Given the description of an element on the screen output the (x, y) to click on. 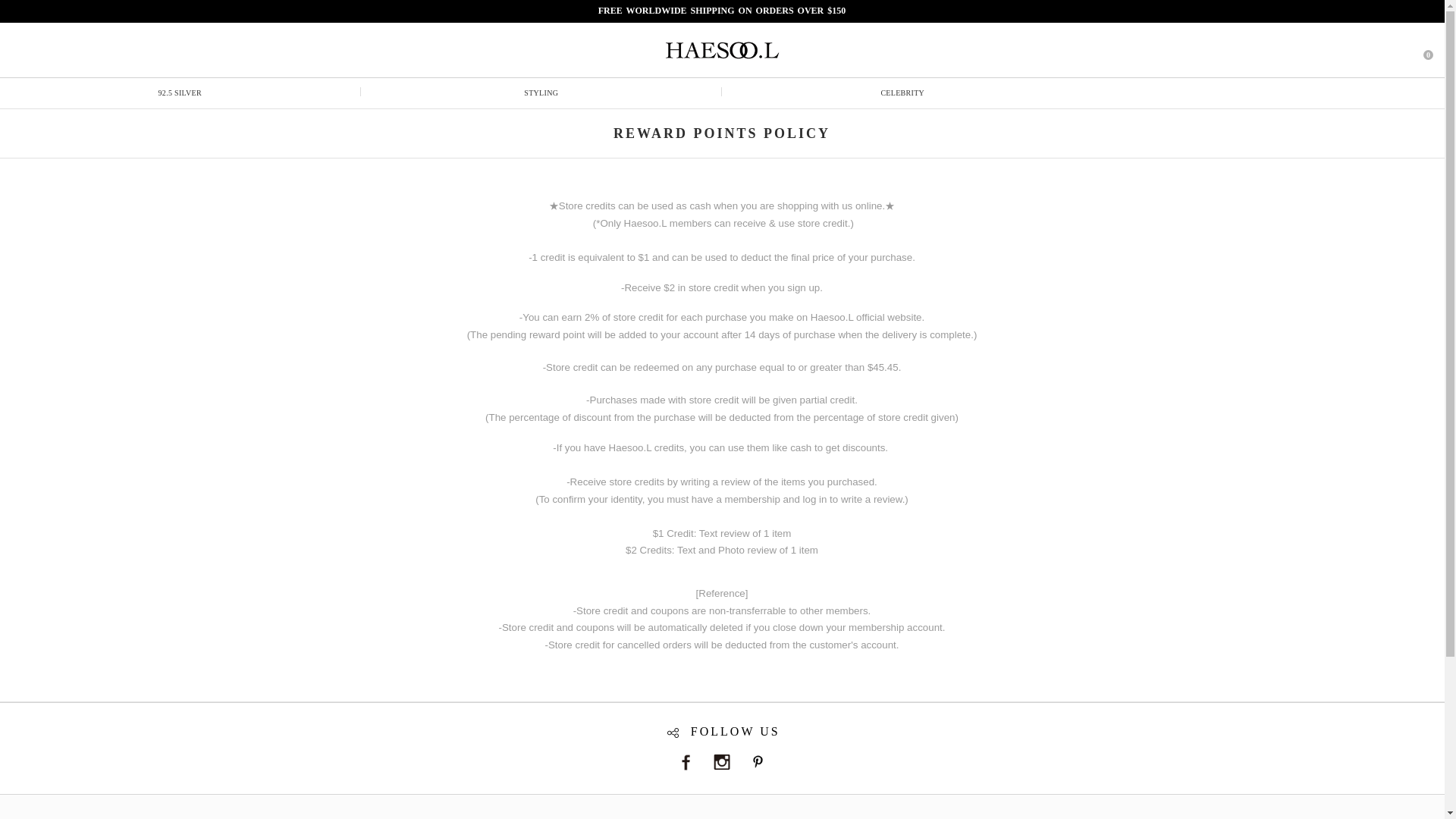
wish list (1390, 48)
STYLING (541, 92)
92.5 SILVER (180, 92)
CELEBRITY (902, 92)
